Given the description of an element on the screen output the (x, y) to click on. 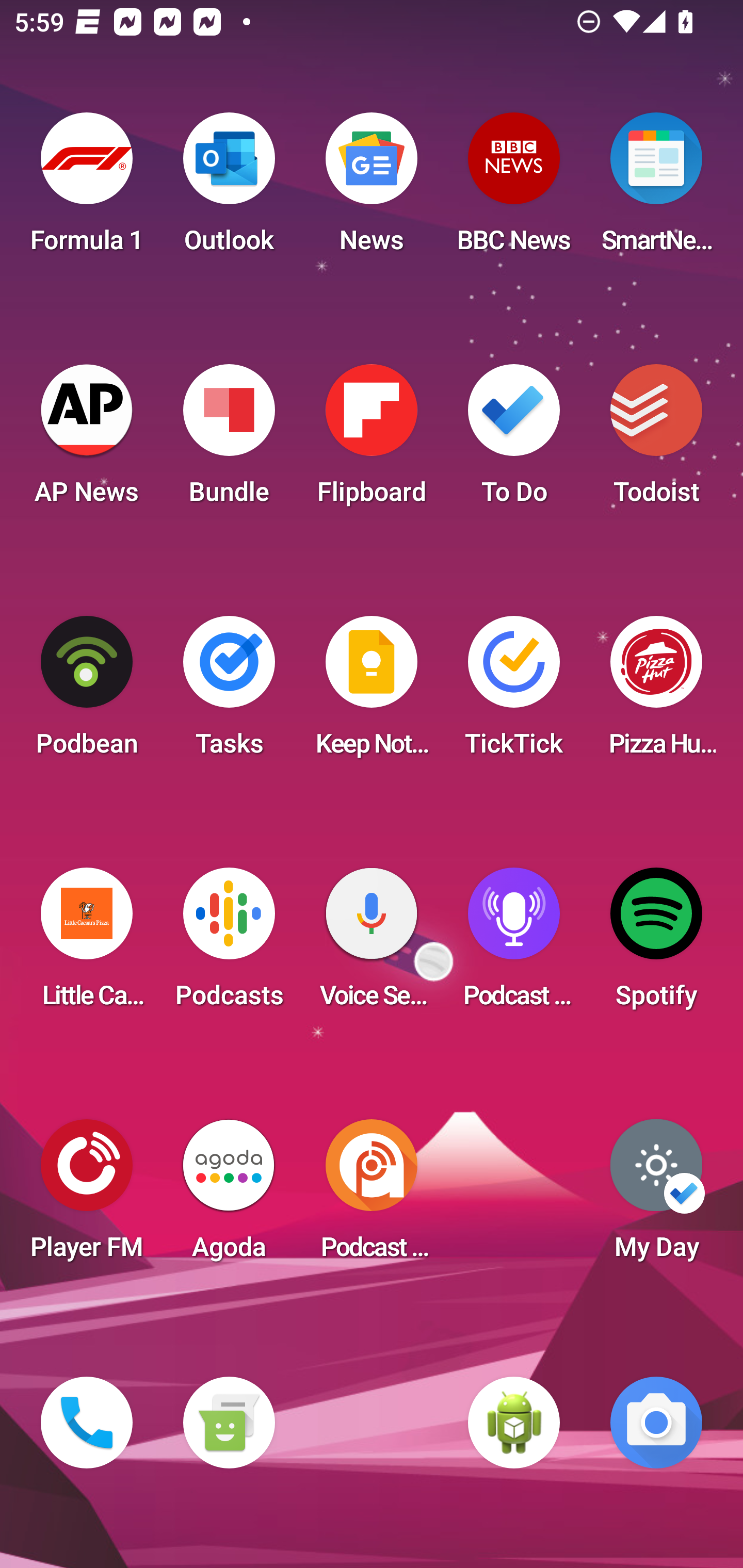
Formula 1 (86, 188)
Outlook (228, 188)
News (371, 188)
BBC News (513, 188)
SmartNews (656, 188)
AP News (86, 440)
Bundle (228, 440)
Flipboard (371, 440)
To Do (513, 440)
Todoist (656, 440)
Podbean (86, 692)
Tasks (228, 692)
Keep Notes (371, 692)
TickTick (513, 692)
Pizza Hut HK & Macau (656, 692)
Little Caesars Pizza (86, 943)
Podcasts (228, 943)
Voice Search (371, 943)
Podcast Player (513, 943)
Spotify (656, 943)
Player FM (86, 1195)
Agoda (228, 1195)
Podcast Addict (371, 1195)
My Day (656, 1195)
Phone (86, 1422)
Messaging (228, 1422)
WebView Browser Tester (513, 1422)
Camera (656, 1422)
